Given the description of an element on the screen output the (x, y) to click on. 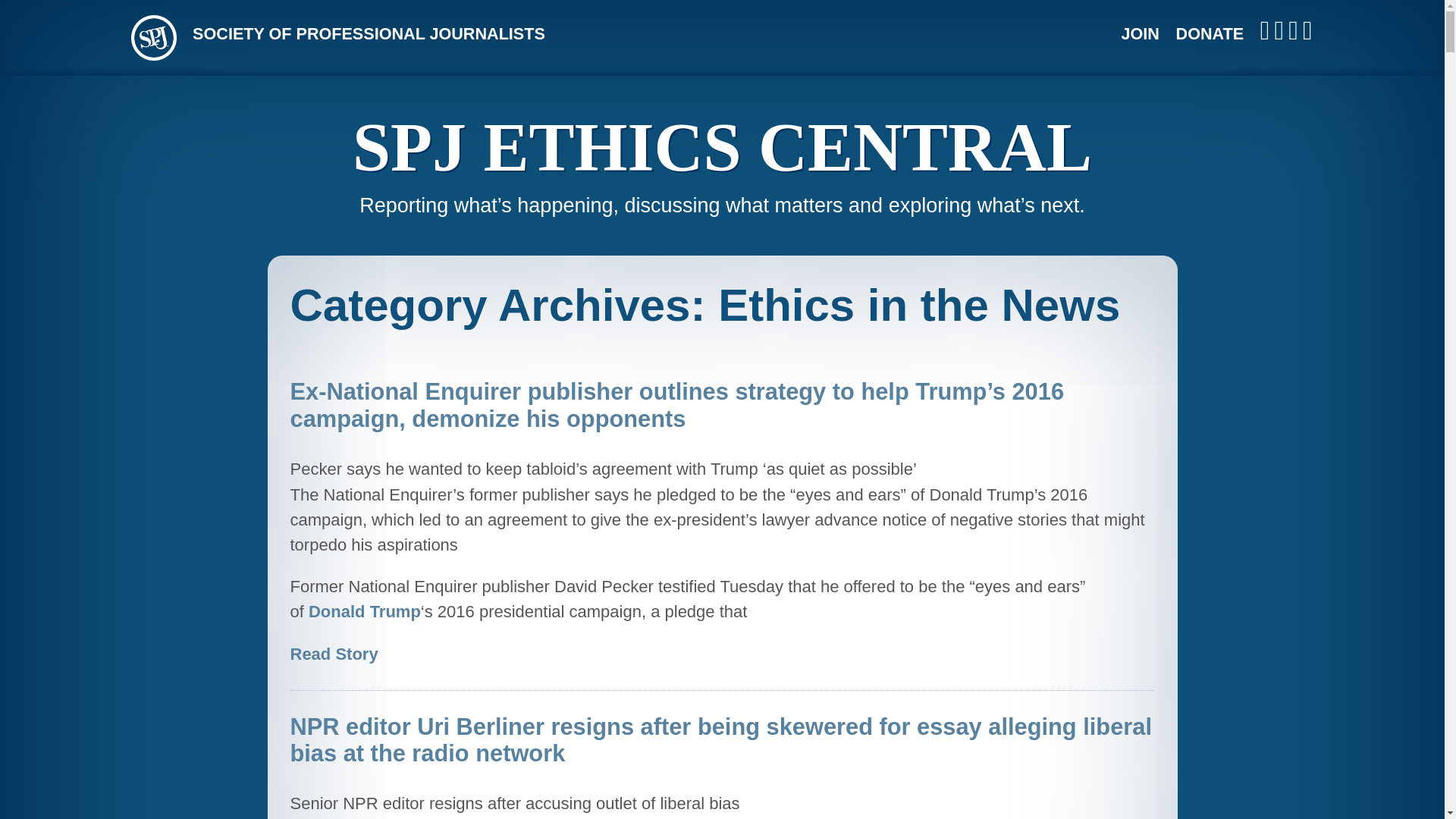
JOIN (1139, 33)
SPJ Ethics Central (722, 147)
DONATE (1210, 33)
SOCIETY OF PROFESSIONAL JOURNALISTS (368, 33)
Donald Trump (364, 610)
Read Story (333, 653)
SPJ ETHICS CENTRAL (722, 147)
